Given the description of an element on the screen output the (x, y) to click on. 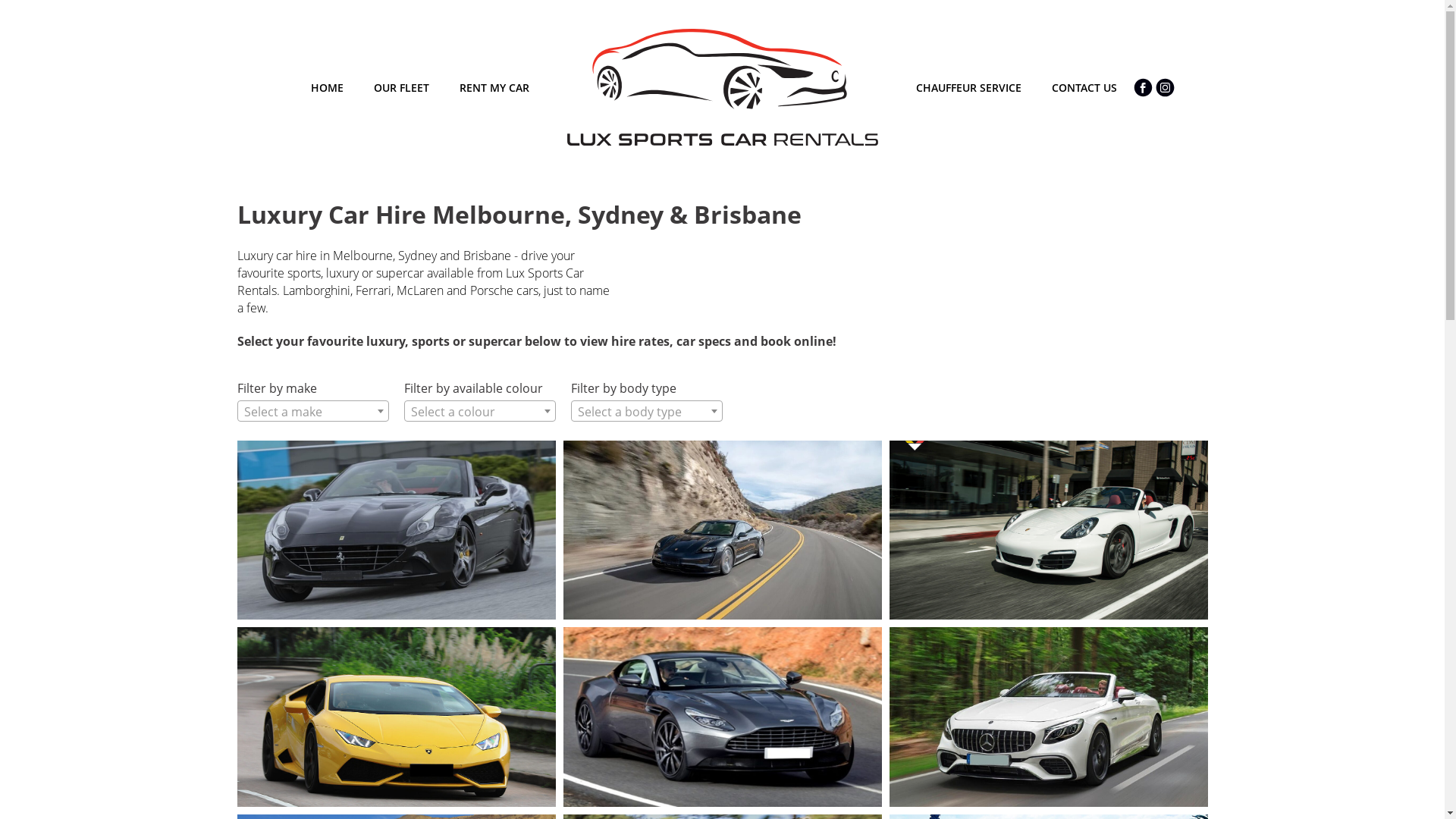
CONTACT US Element type: text (1083, 87)
HOME Element type: text (326, 87)
OUR FLEET Element type: text (400, 87)
CHAUFFEUR SERVICE Element type: text (968, 87)
RENT MY CAR Element type: text (494, 87)
